Given the description of an element on the screen output the (x, y) to click on. 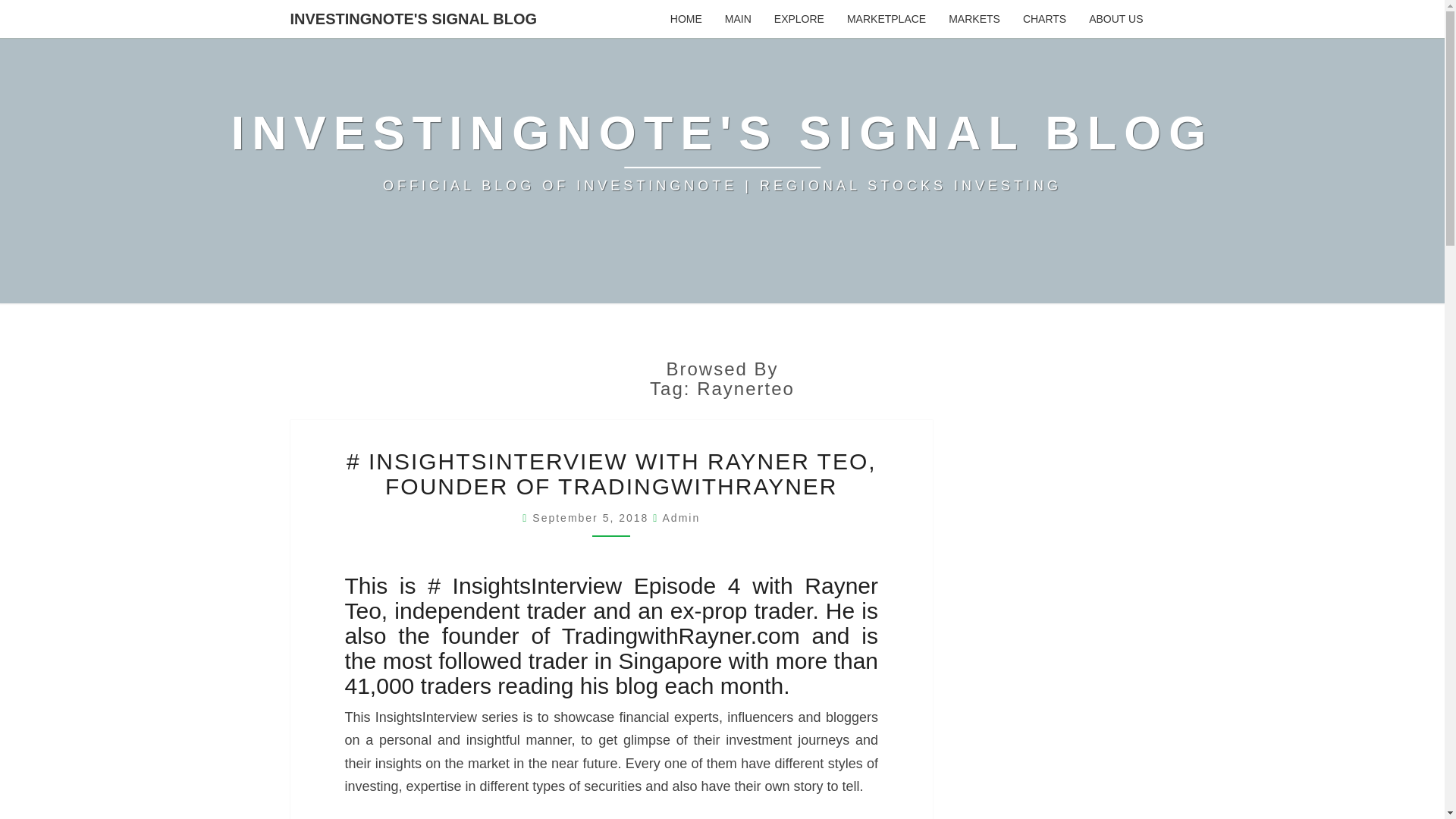
Explore (798, 18)
ABOUT US (1115, 18)
Main (737, 18)
View all posts by admin (681, 517)
HOME (686, 18)
MAIN (737, 18)
Markets (974, 18)
Home (686, 18)
4:39 pm (592, 517)
Marketplace (886, 18)
MARKETS (974, 18)
Admin (681, 517)
September 5, 2018 (592, 517)
About Us (1115, 18)
MARKETPLACE (886, 18)
